Given the description of an element on the screen output the (x, y) to click on. 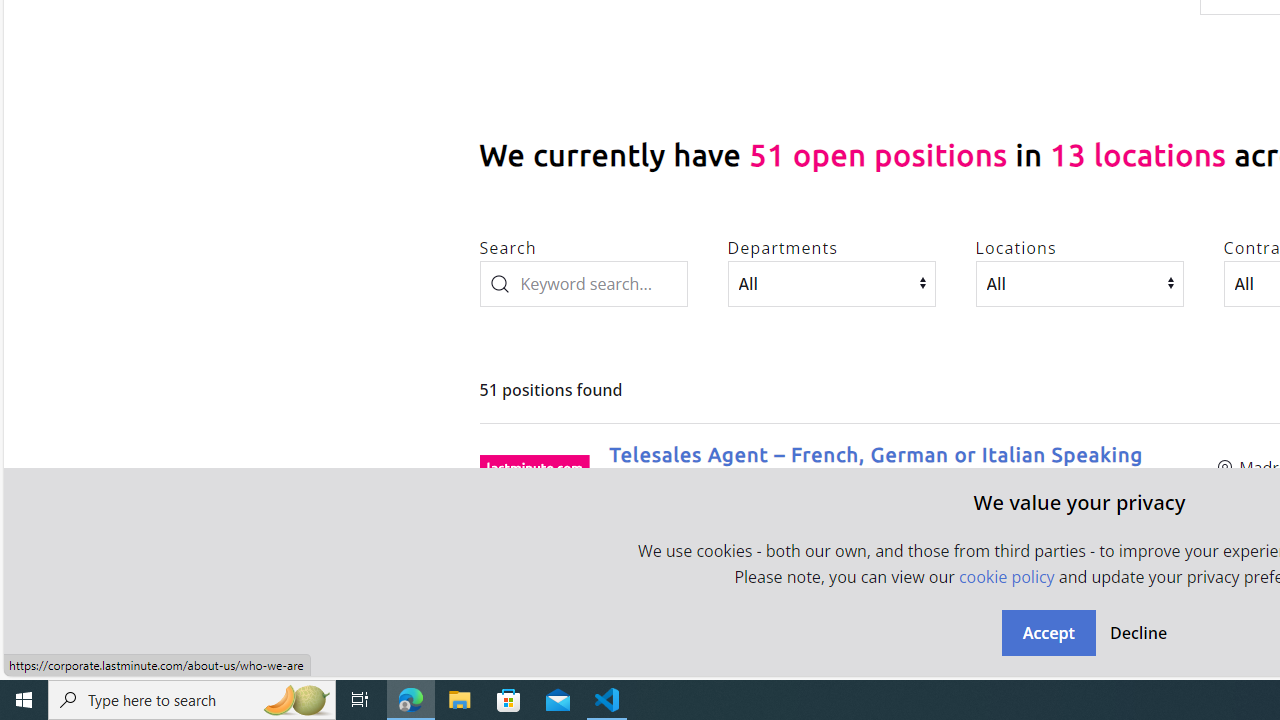
Departments (831, 283)
Accept (1047, 632)
Full Stack Engineer (705, 631)
Locations (1079, 283)
Decline (1137, 632)
cookie policy (1005, 576)
